Given the description of an element on the screen output the (x, y) to click on. 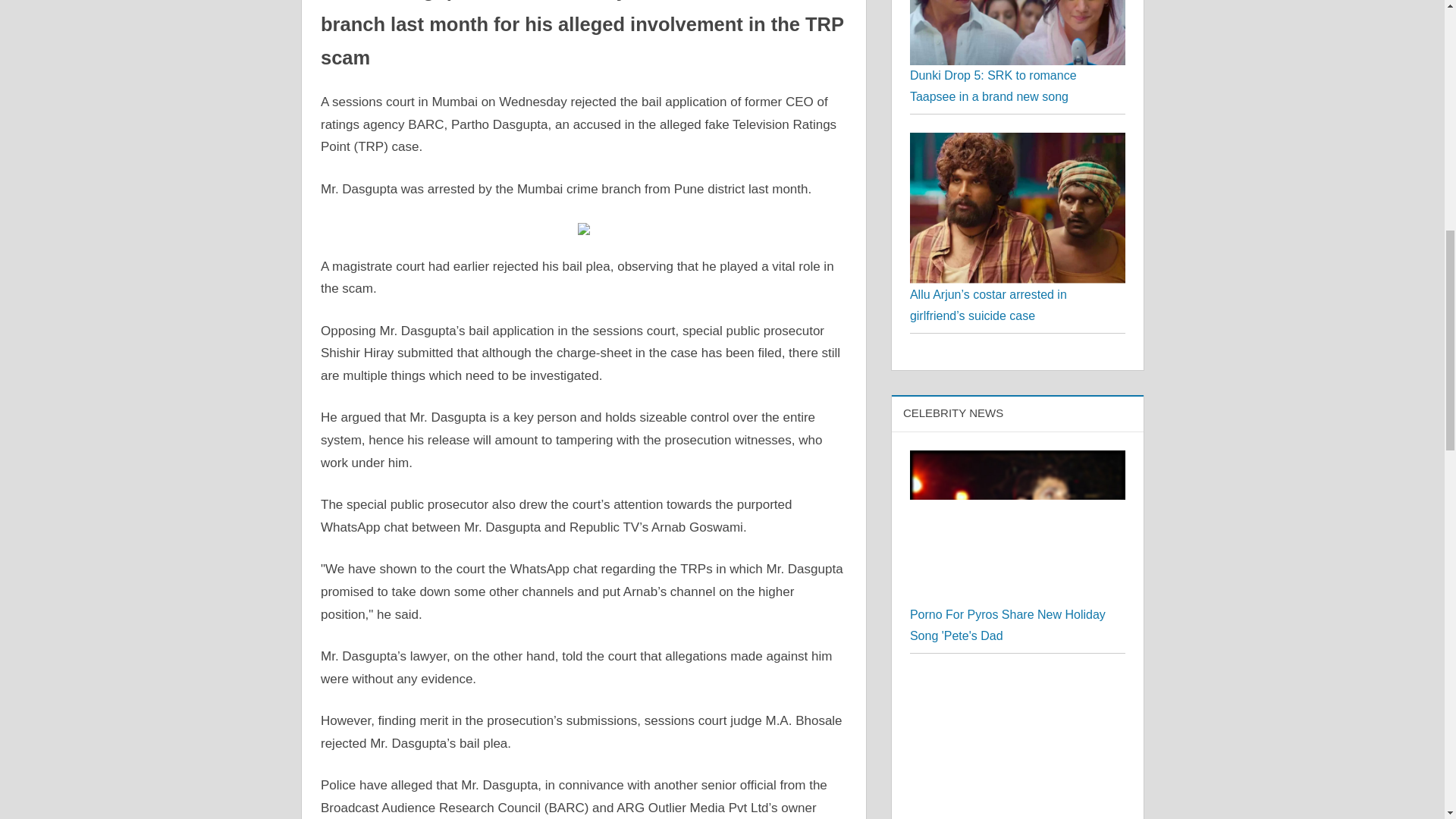
Porno For Pyros Share New Holiday Song 'Pete's Dad (1017, 301)
Porno For Pyros Share New Holiday Song 'Pete's Dad (1007, 399)
10 Healthy Things Diabetics Should Do in 2024 (1017, 455)
10 Healthy Things Diabetics Should Do in 2024 (1015, 706)
10 Healthy Things Diabetics Should Do in 2024 (1017, 565)
Porno For Pyros Share New Holiday Song 'Pete's Dad (1017, 234)
